Given the description of an element on the screen output the (x, y) to click on. 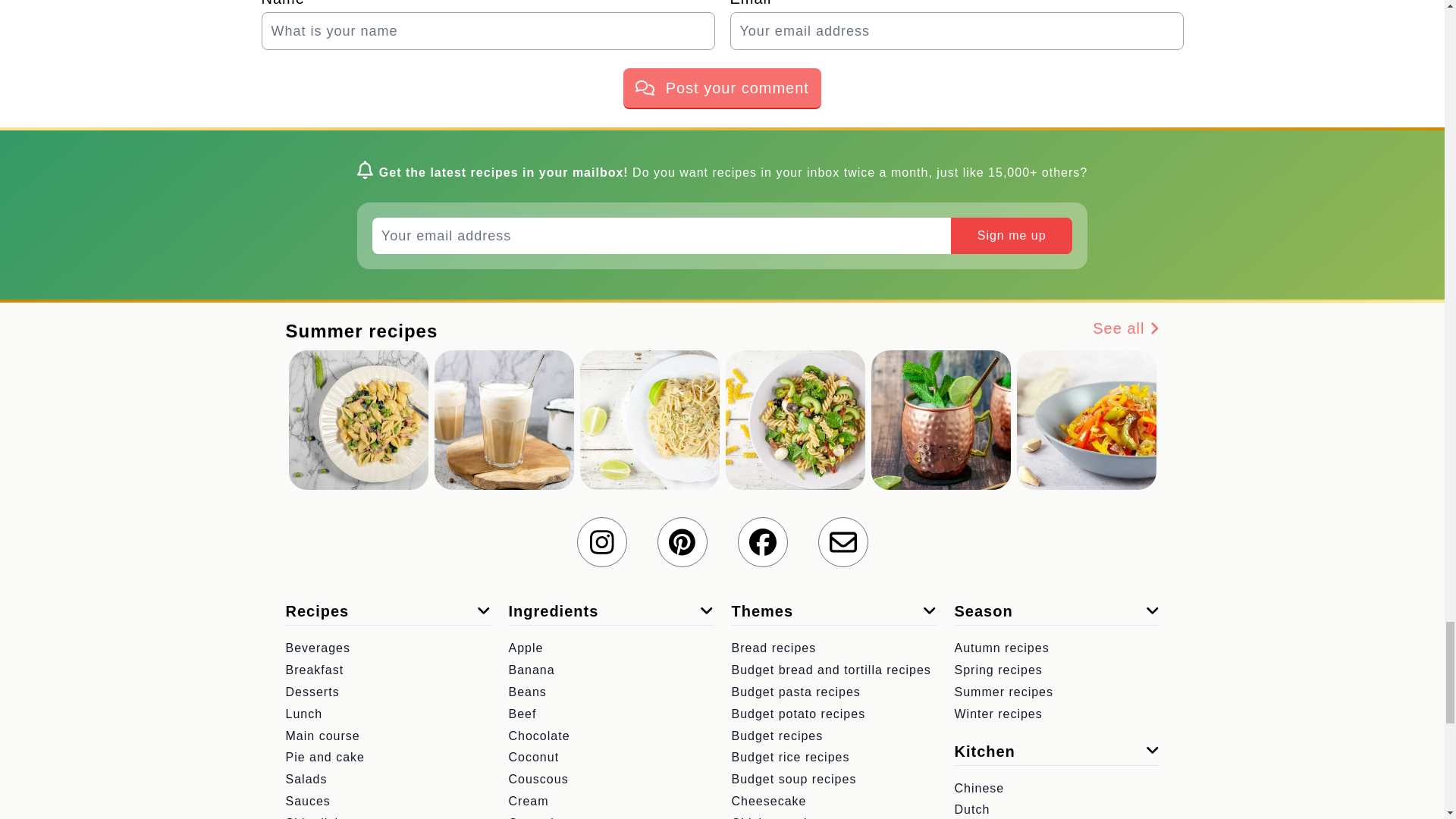
See all (1125, 330)
Sign me up (1010, 235)
Post your comment (722, 87)
